Given the description of an element on the screen output the (x, y) to click on. 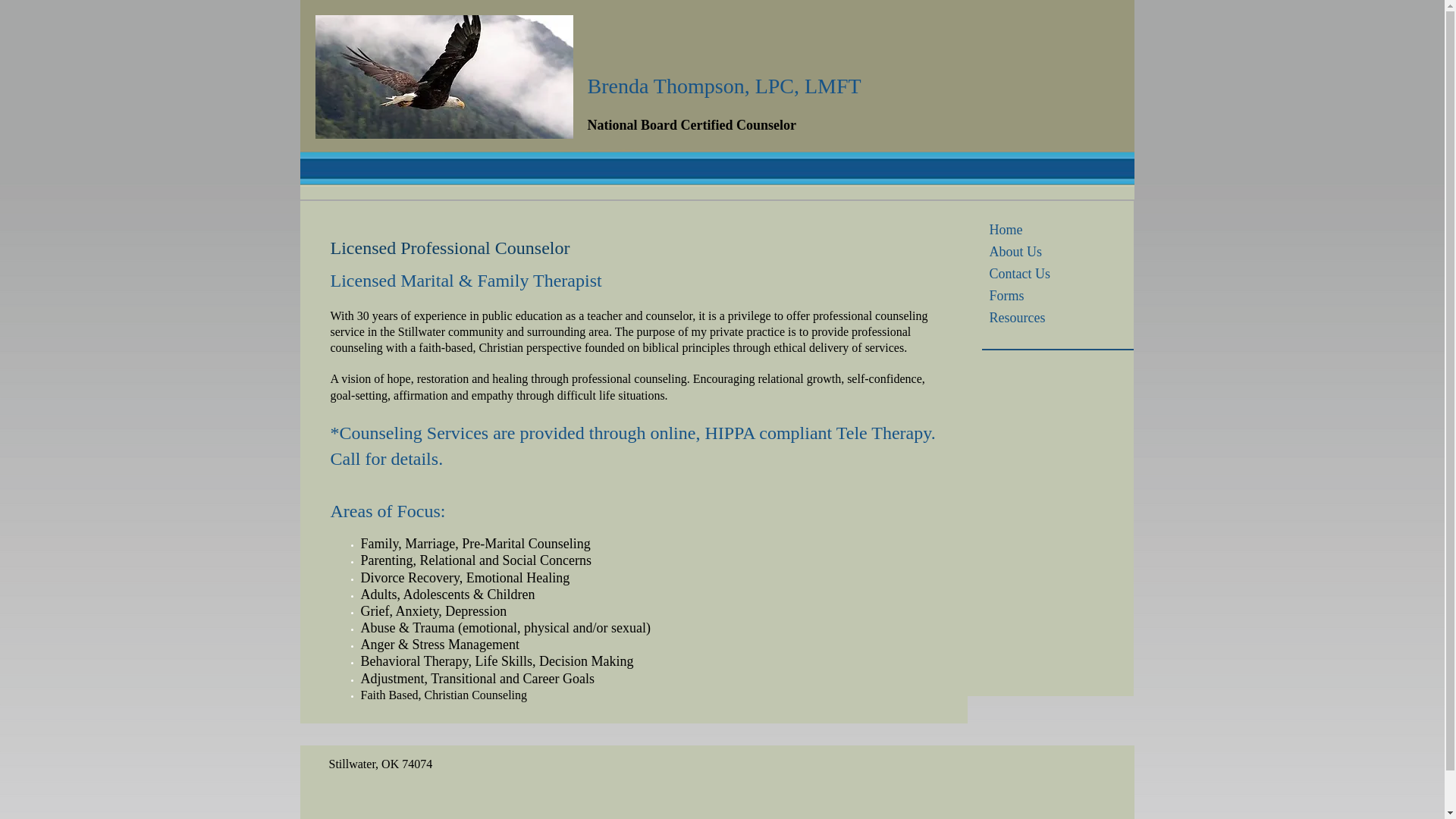
Home (1005, 229)
Forms (1005, 295)
Contact Us (1019, 273)
Resources (1016, 317)
About Us (1015, 251)
